Given the description of an element on the screen output the (x, y) to click on. 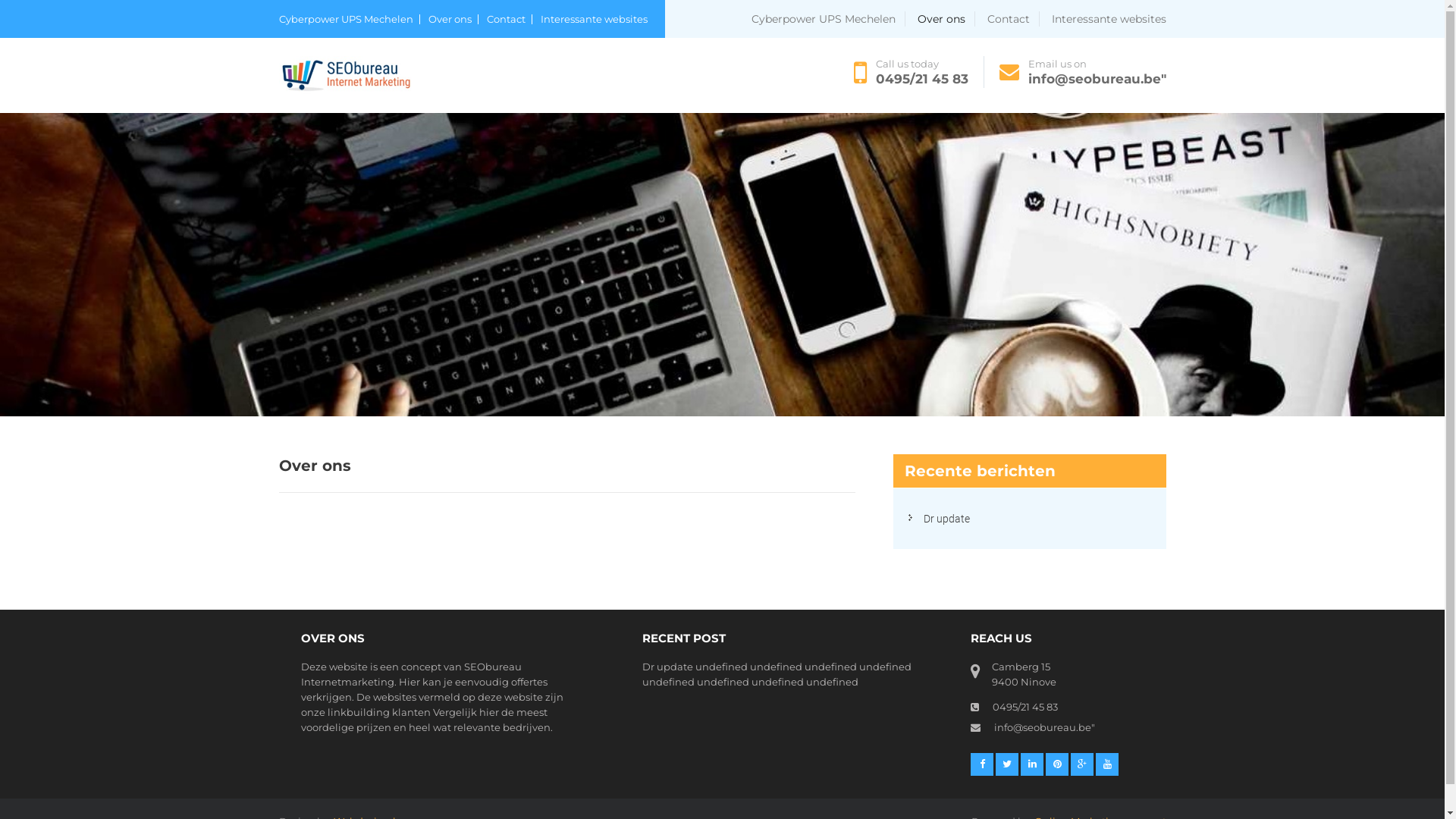
youtube Element type: hover (1106, 764)
google-plus Element type: hover (1081, 764)
facebook Element type: hover (981, 764)
Contact Element type: text (509, 19)
linkedin Element type: hover (1031, 764)
Interessante websites Element type: text (1108, 18)
Cyberpower UPS Mechelen Element type: text (349, 19)
Dr update Element type: text (667, 666)
twitter Element type: hover (1006, 764)
Cyberpower UPS Mechelen Element type: text (827, 18)
pinterest Element type: hover (1056, 764)
info@seobureau.be" Element type: text (1043, 727)
Over ons Element type: text (946, 18)
Dr update Element type: text (946, 518)
Contact Element type: text (1013, 18)
info@seobureau.be" Element type: text (1097, 78)
Interessante websites Element type: text (592, 19)
Over ons Element type: text (452, 19)
